Given the description of an element on the screen output the (x, y) to click on. 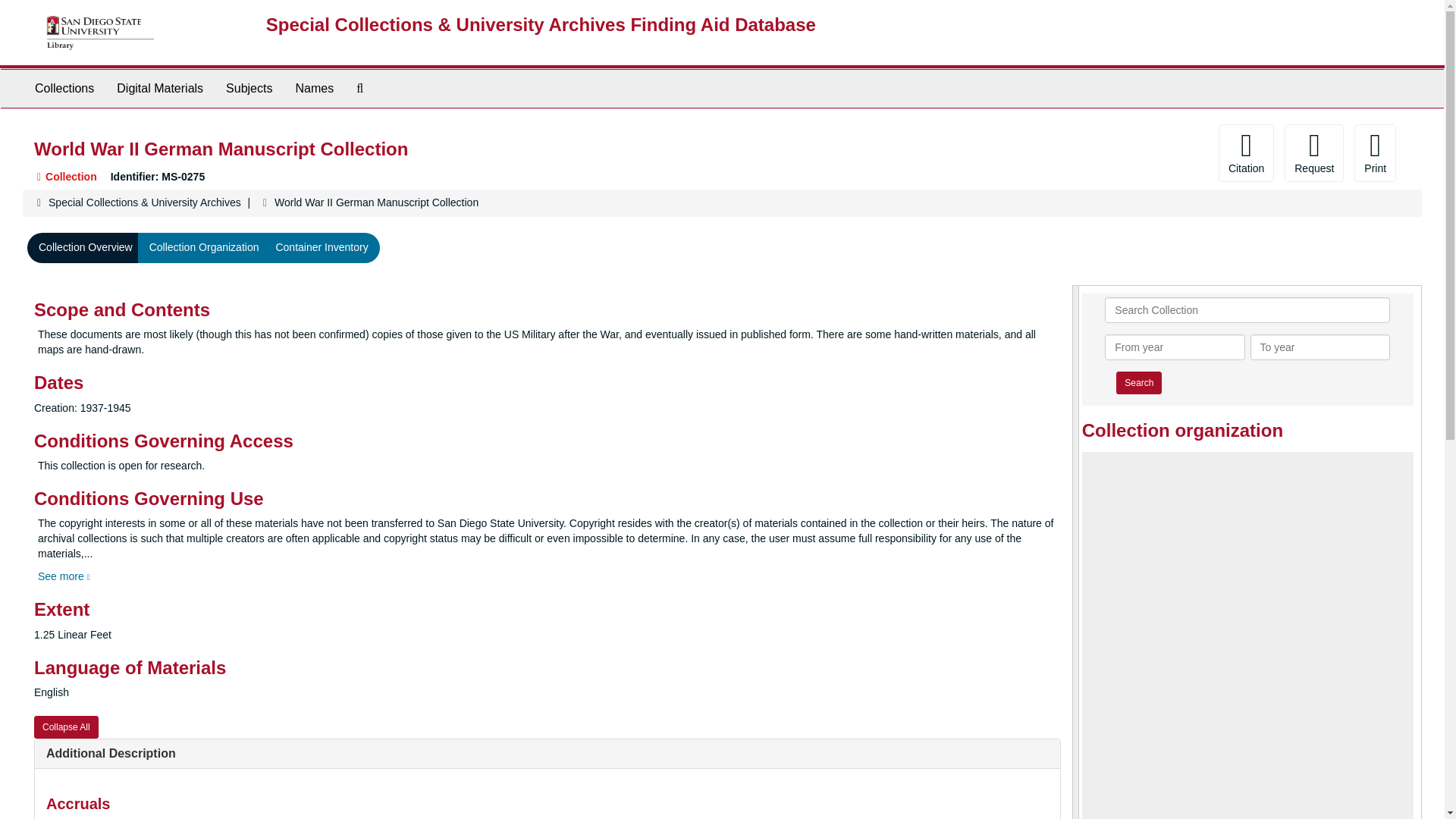
Search (1138, 382)
Request (1313, 152)
Digital Materials (159, 88)
Subjects (248, 88)
Names (314, 88)
Additional Description (111, 753)
Collection Overview (85, 247)
Page Actions (1130, 152)
Return to the SCUA Finding Aid Database homepage (540, 24)
See more (63, 576)
Search (1138, 382)
Citation (1246, 152)
Request (1313, 152)
Collections (63, 88)
Collapse All (66, 726)
